Given the description of an element on the screen output the (x, y) to click on. 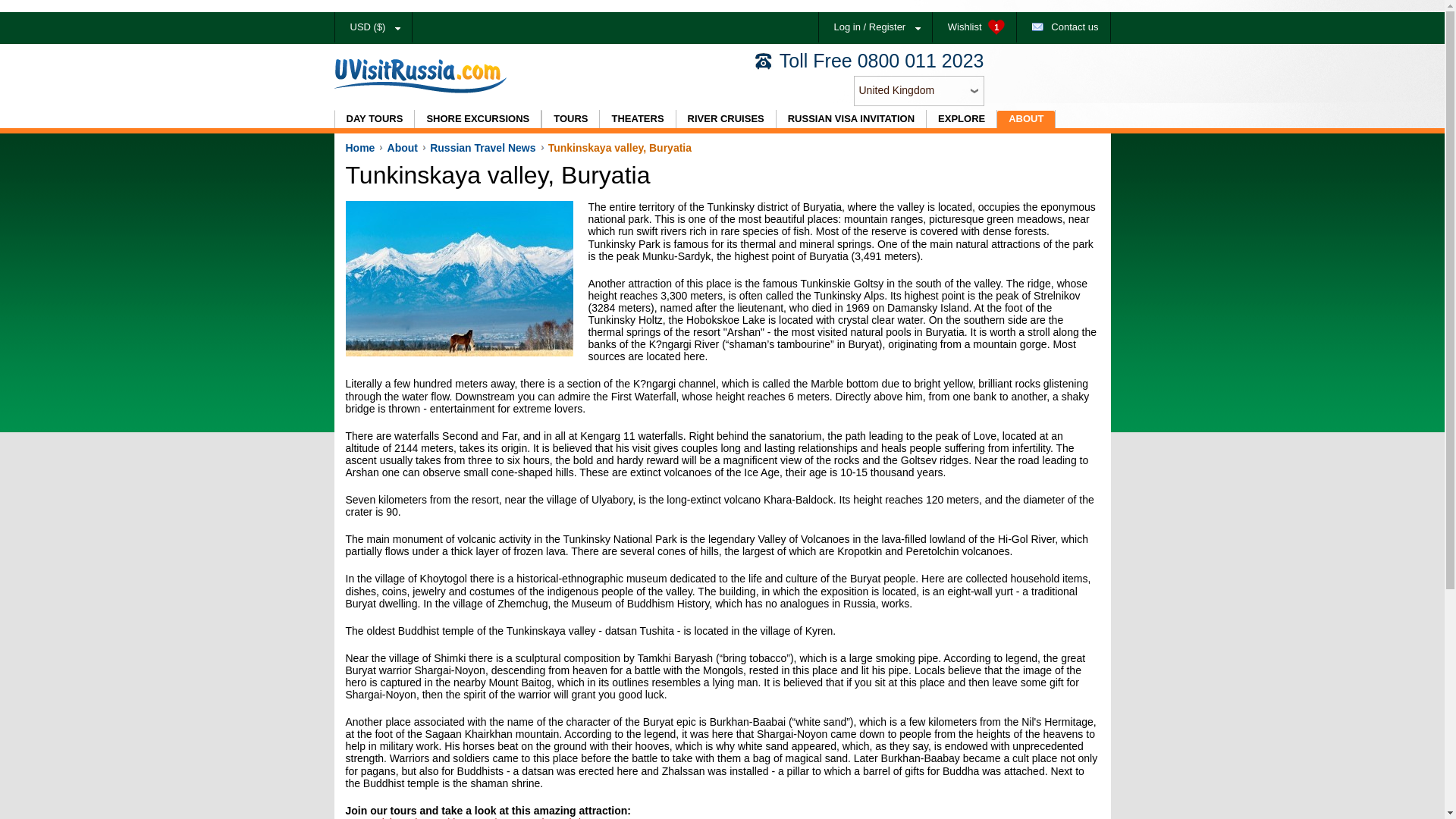
Wishlist 1 (974, 27)
Tunkinskaya valley, Buryatia (459, 278)
DAY TOURS (373, 118)
 Contact us (1062, 27)
